Given the description of an element on the screen output the (x, y) to click on. 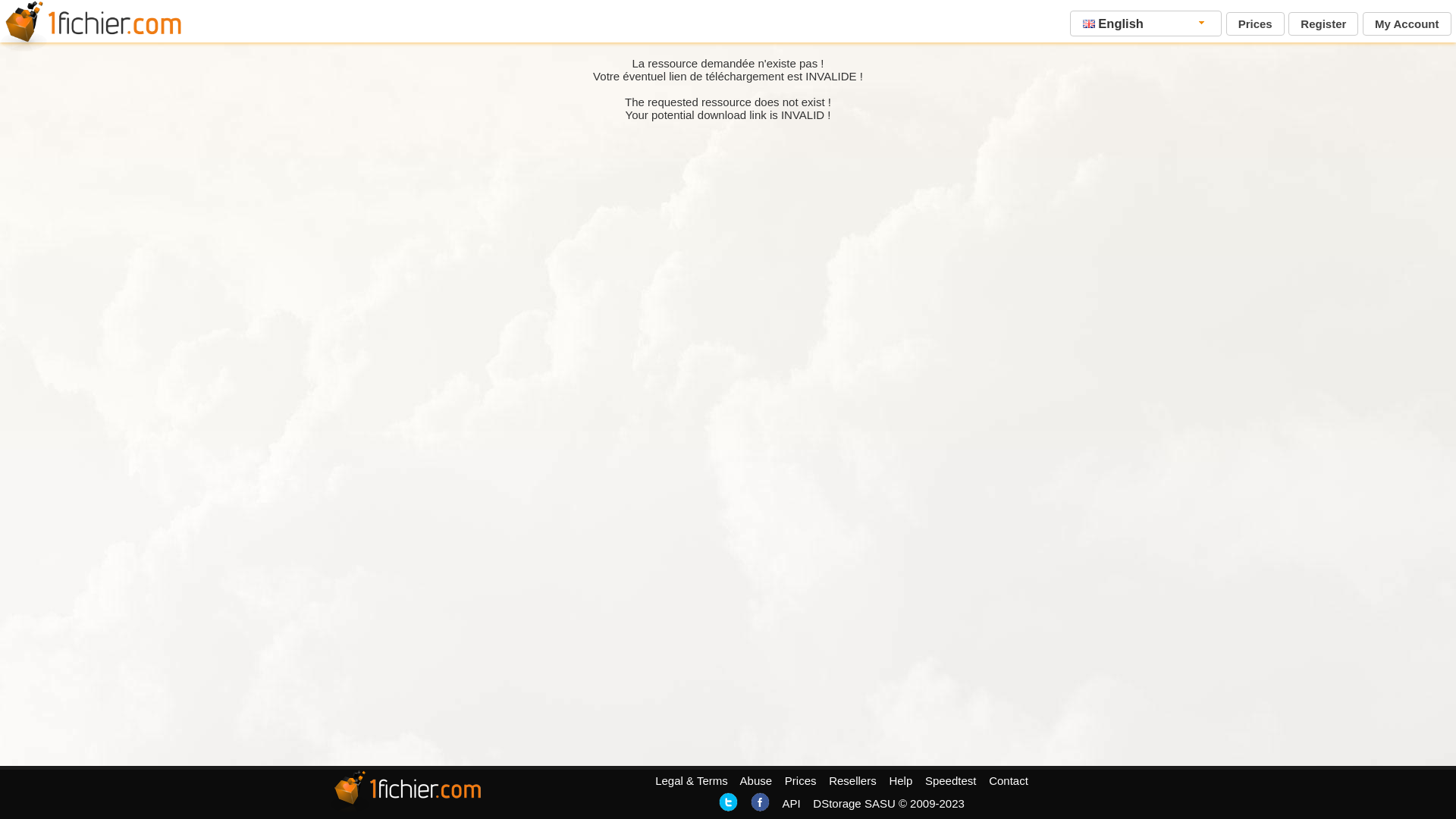
Prices Element type: text (1255, 23)
Speedtest Element type: text (950, 780)
My Account Element type: text (1406, 23)
Help Element type: text (900, 780)
Legal & Terms Element type: text (691, 780)
Contact Element type: text (1008, 780)
API Element type: text (790, 803)
Register Element type: text (1323, 23)
Prices Element type: text (800, 780)
Abuse Element type: text (756, 780)
Resellers Element type: text (852, 780)
